Given the description of an element on the screen output the (x, y) to click on. 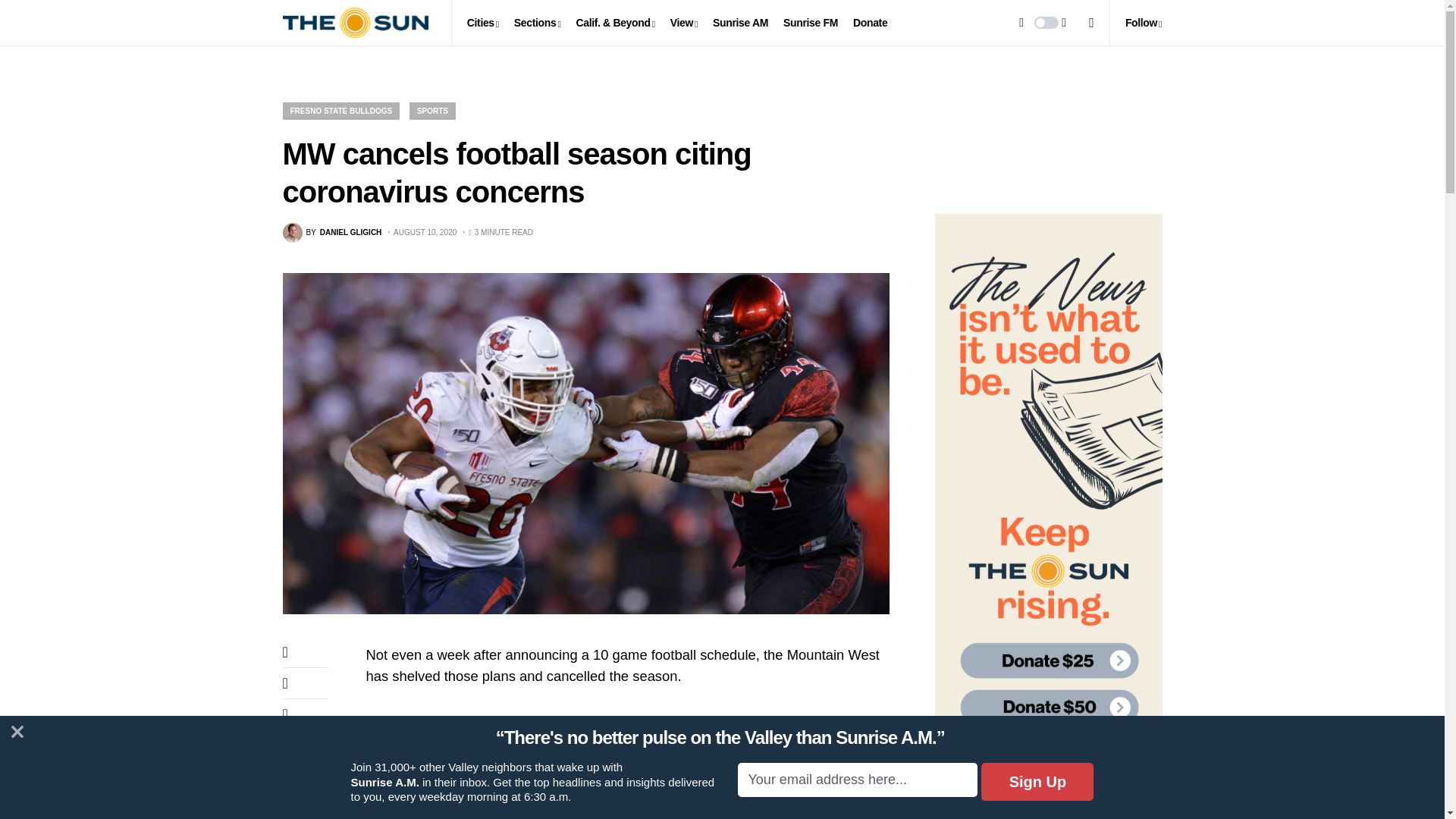
Sign Up (1037, 781)
Close (17, 731)
View all posts by Daniel Gligich (331, 232)
